Given the description of an element on the screen output the (x, y) to click on. 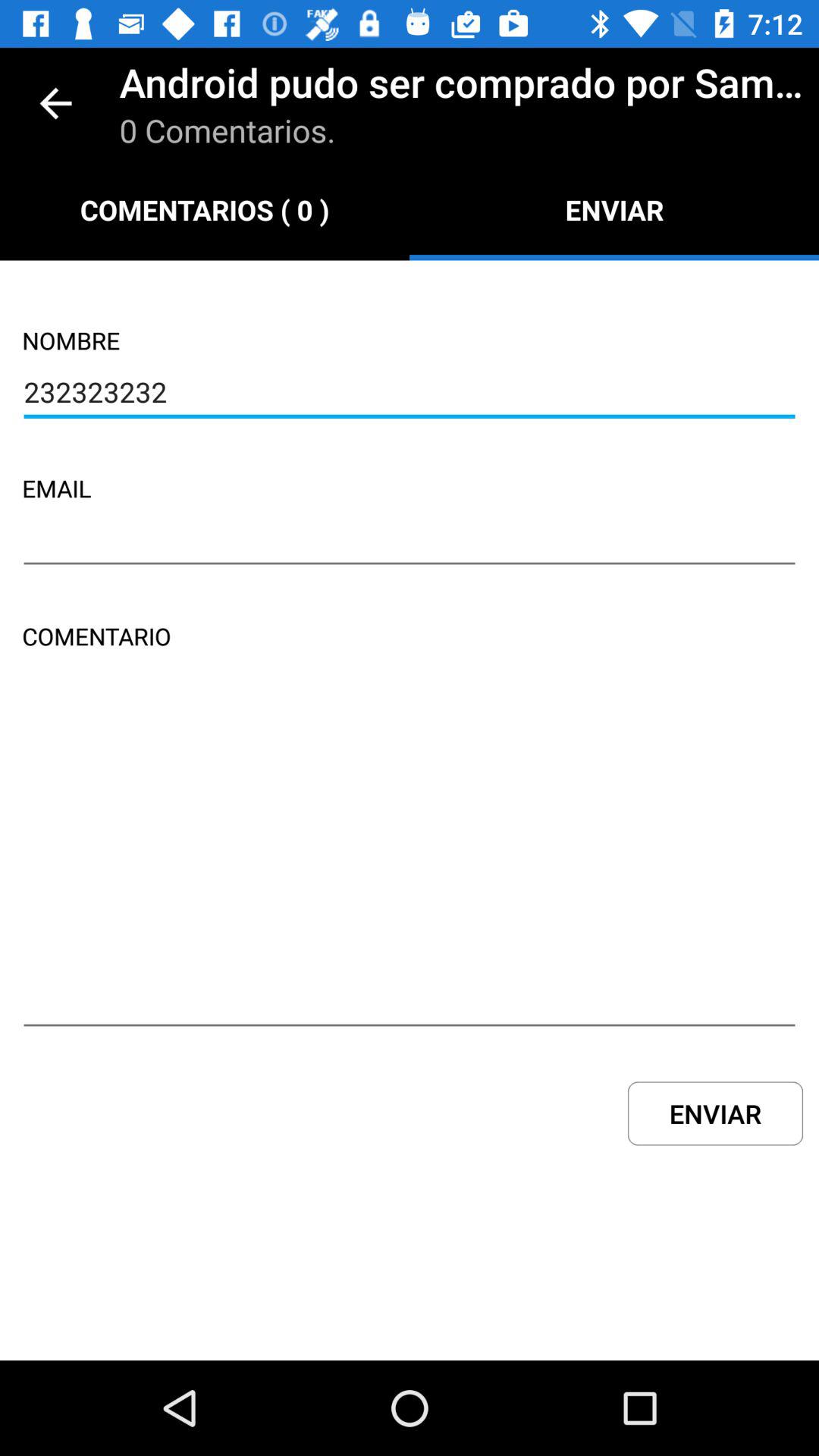
turn off icon above email icon (409, 394)
